Given the description of an element on the screen output the (x, y) to click on. 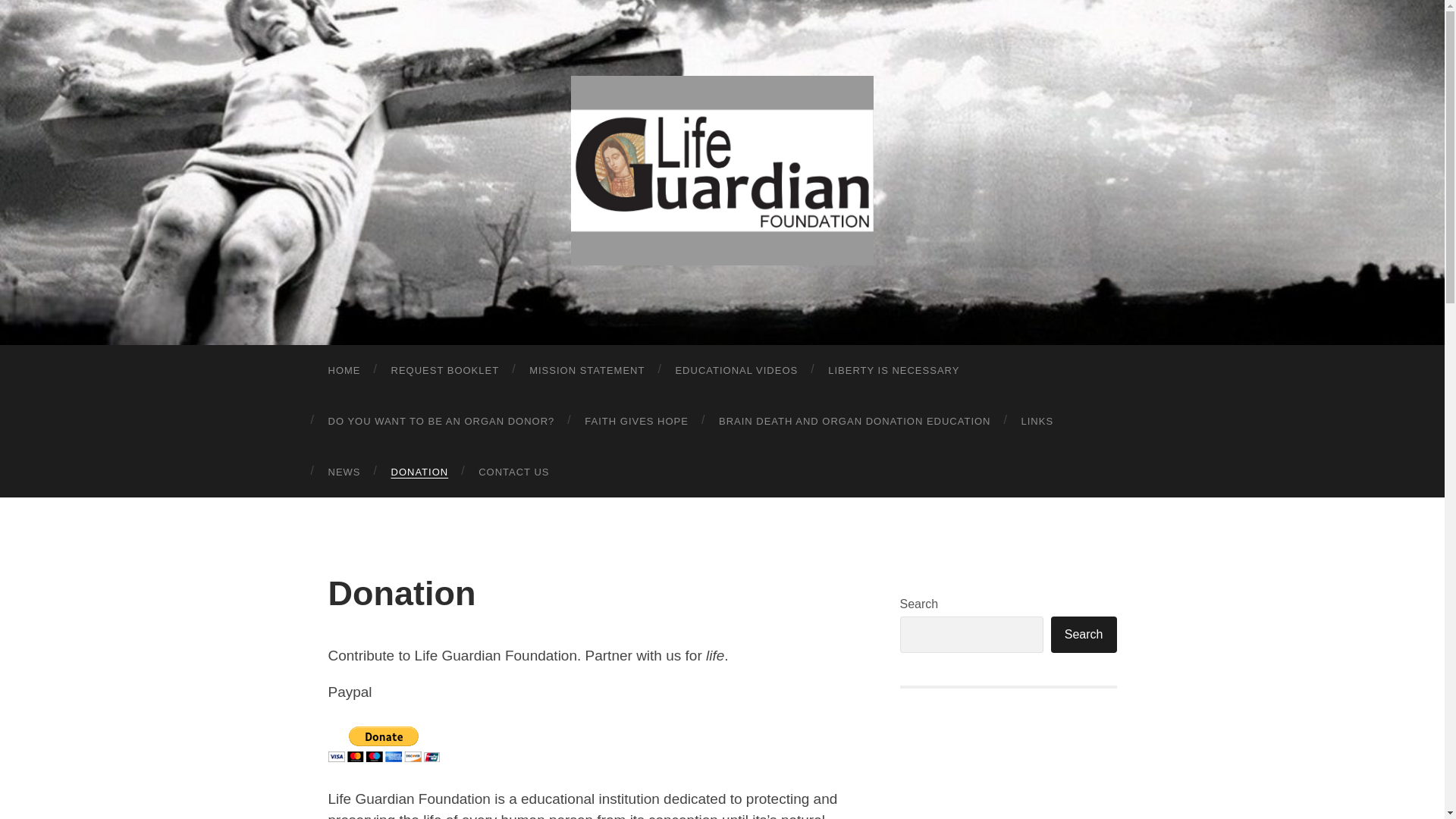
Search (1083, 634)
HOME (344, 369)
CONTACT US (513, 471)
DO YOU WANT TO BE AN ORGAN DONOR? (441, 420)
EDUCATIONAL VIDEOS (735, 369)
LIBERTY IS NECESSARY (893, 369)
FAITH GIVES HOPE (636, 420)
LINKS (1037, 420)
NEWS (344, 471)
MISSION STATEMENT (586, 369)
BRAIN DEATH AND ORGAN DONATION EDUCATION (854, 420)
REQUEST BOOKLET (445, 369)
DONATION (419, 471)
